Given the description of an element on the screen output the (x, y) to click on. 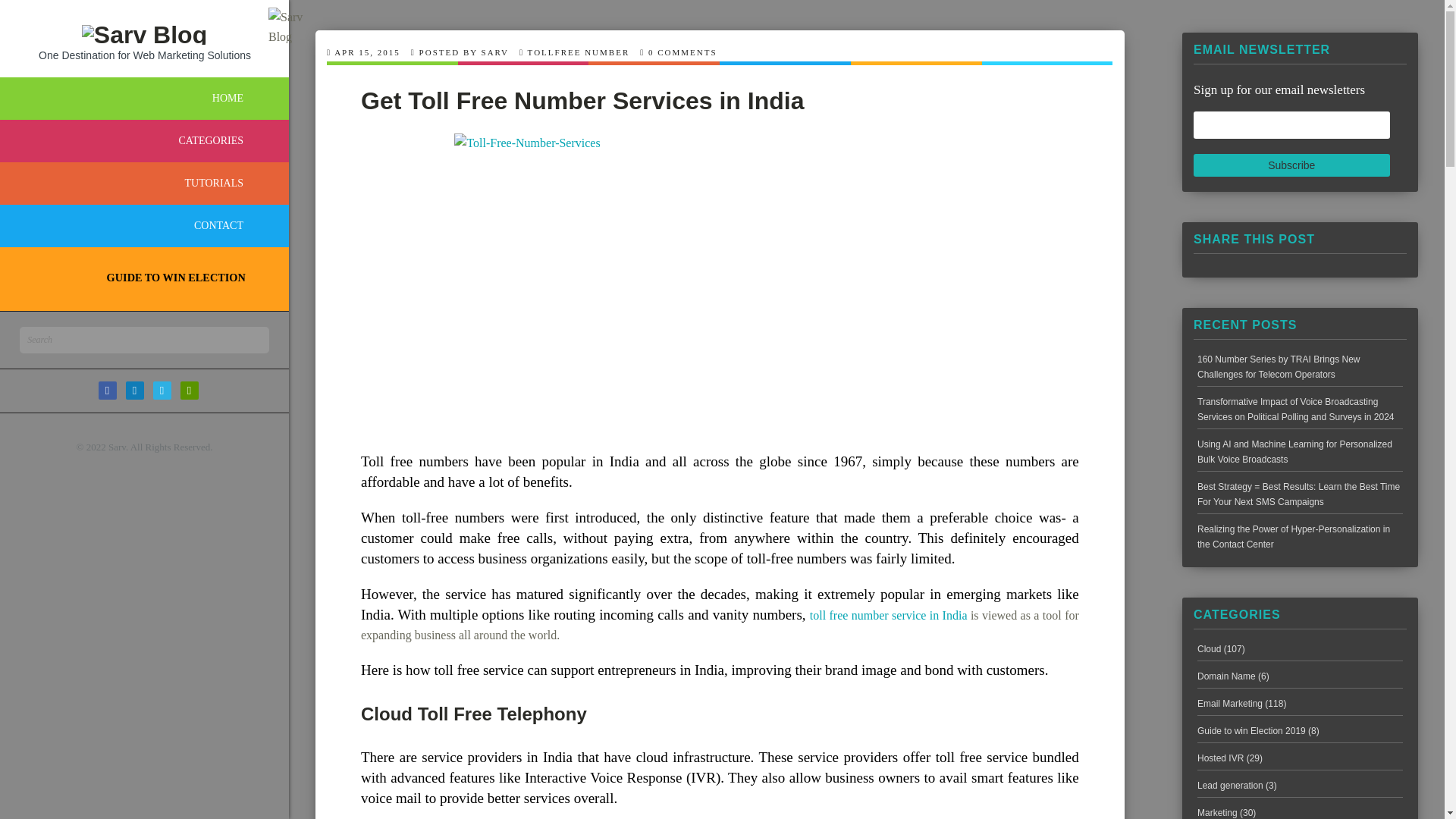
CATEGORIES (144, 140)
GUIDE TO WIN ELECTION (137, 275)
TOLLFREE NUMBER (578, 51)
0 COMMENTS (682, 51)
Get Toll Free Number Services in India (582, 100)
TUTORIALS (144, 183)
CONTACT (144, 225)
toll free number service in India (888, 615)
Comment on Get Toll Free Number Services in India (682, 51)
